Given the description of an element on the screen output the (x, y) to click on. 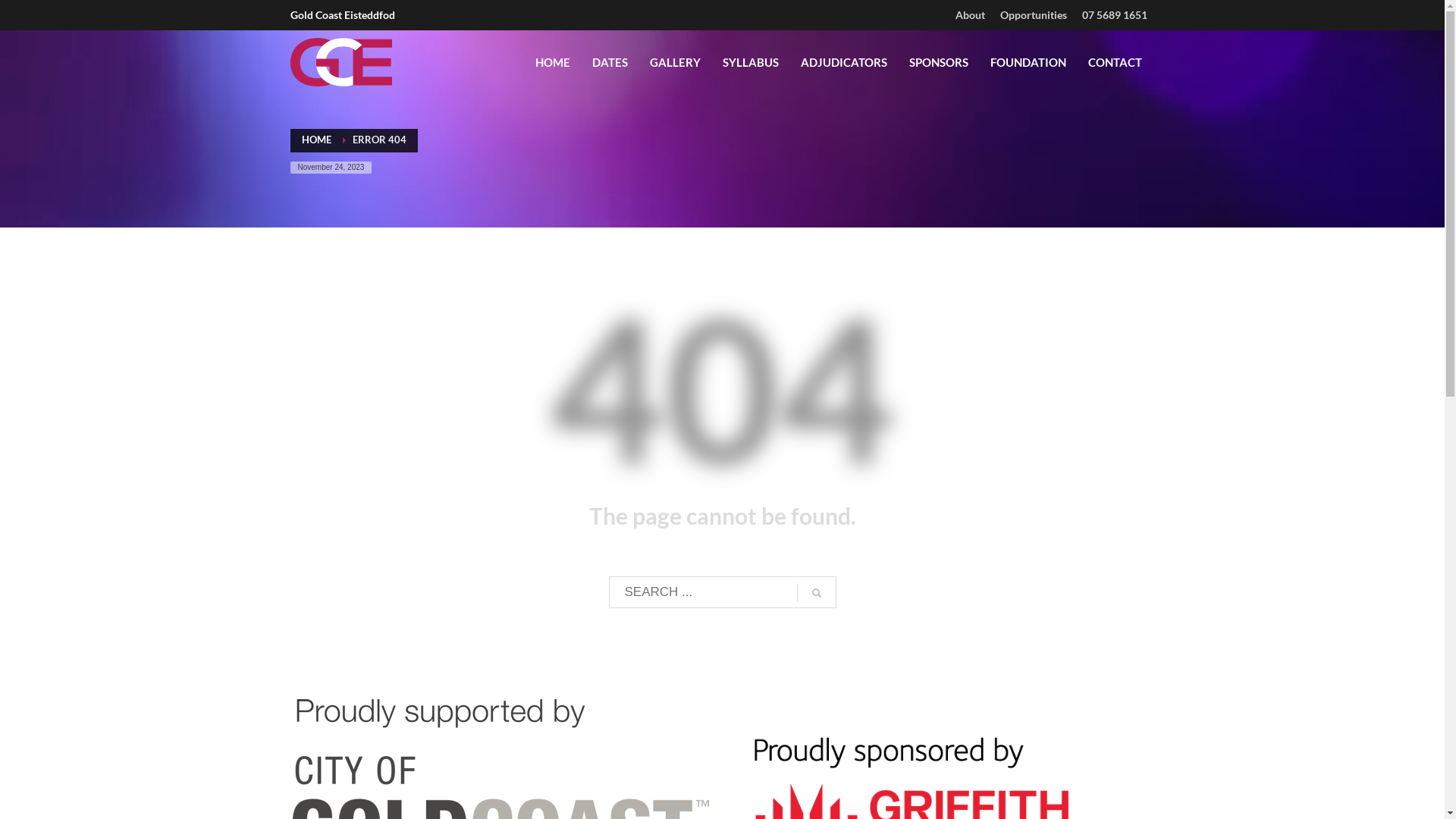
Opportunities Element type: text (1032, 15)
SPONSORS Element type: text (937, 62)
DATES Element type: text (609, 62)
FOUNDATION Element type: text (1028, 62)
go Element type: text (815, 592)
HOME Element type: text (316, 139)
CONTACT Element type: text (1114, 62)
07 5689 1651 Element type: text (1113, 15)
SYLLABUS Element type: text (749, 62)
HOME Element type: text (552, 62)
About Element type: text (970, 15)
GALLERY Element type: text (674, 62)
ADJUDICATORS Element type: text (843, 62)
